Given the description of an element on the screen output the (x, y) to click on. 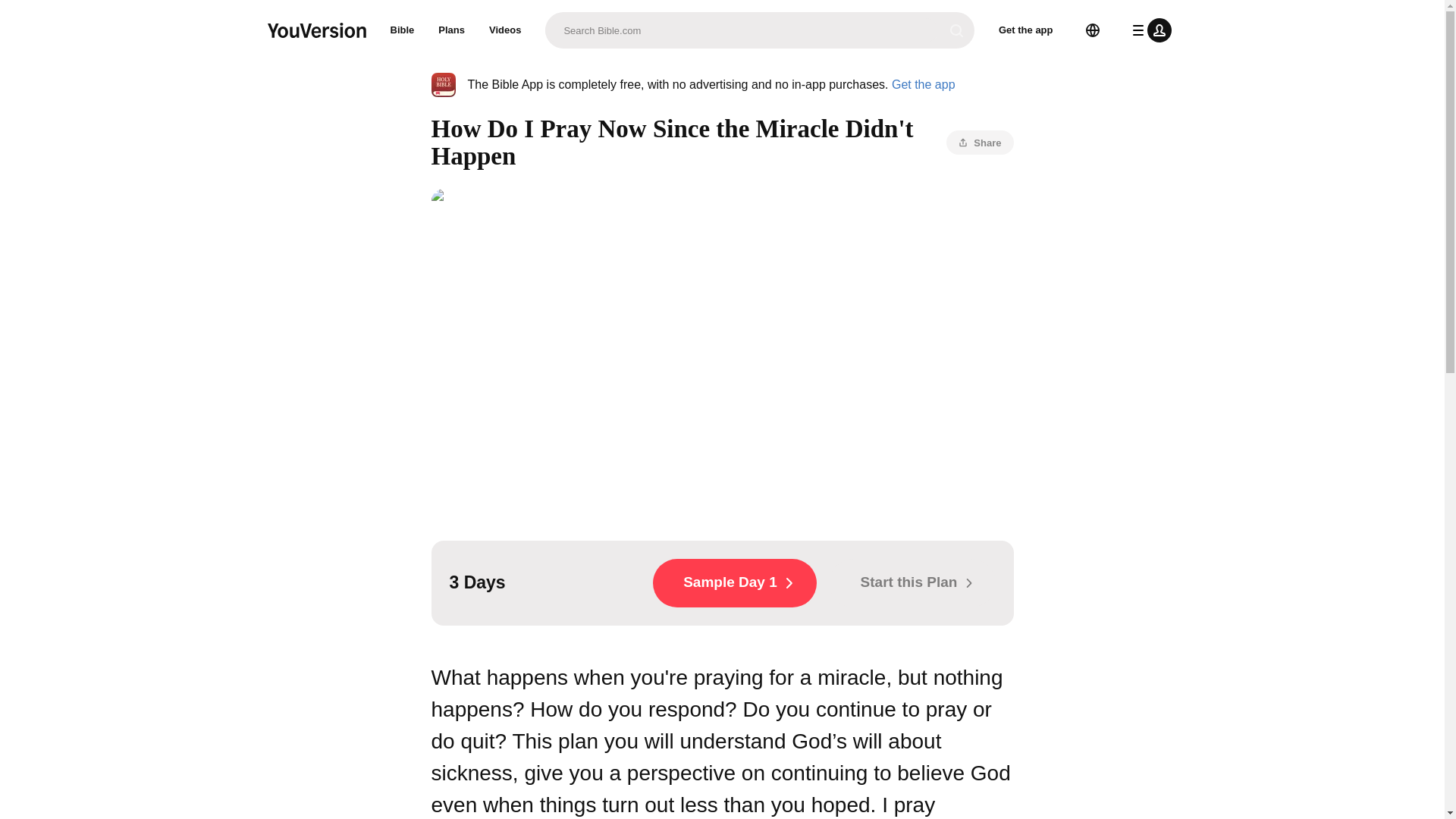
Get the app (1026, 29)
Share (979, 142)
Get the app (923, 83)
Bible Icon (442, 84)
Start this Plan (911, 582)
Bible (401, 29)
Videos (504, 29)
Plans (451, 29)
Sample Day 1 (734, 582)
